Given the description of an element on the screen output the (x, y) to click on. 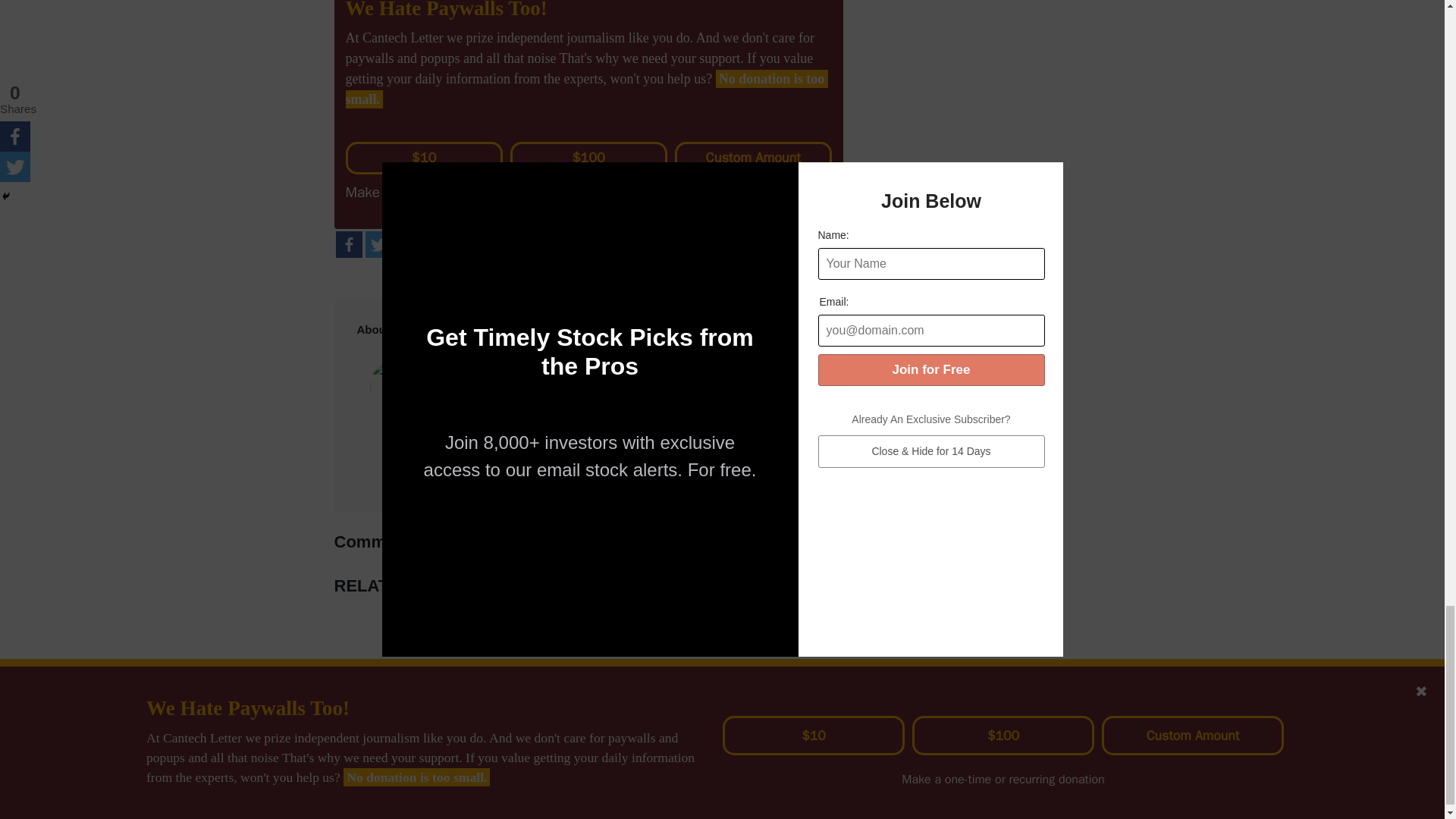
Total Shares (443, 245)
Twitter (378, 243)
Custom Amount (753, 157)
More (407, 243)
Facebook (347, 243)
